Given the description of an element on the screen output the (x, y) to click on. 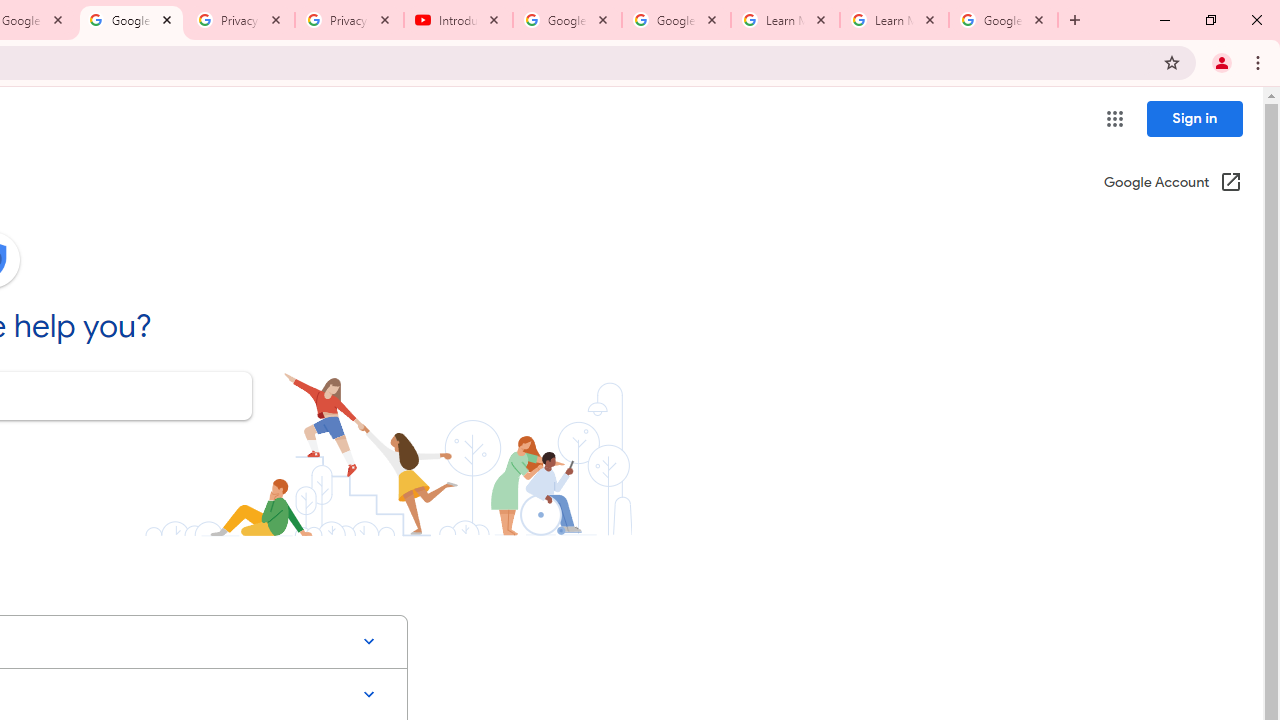
Introduction | Google Privacy Policy - YouTube (458, 20)
Google Account Help (130, 20)
Google Account Help (567, 20)
Google Account (1003, 20)
Google Account (Open in a new window) (1172, 183)
